Given the description of an element on the screen output the (x, y) to click on. 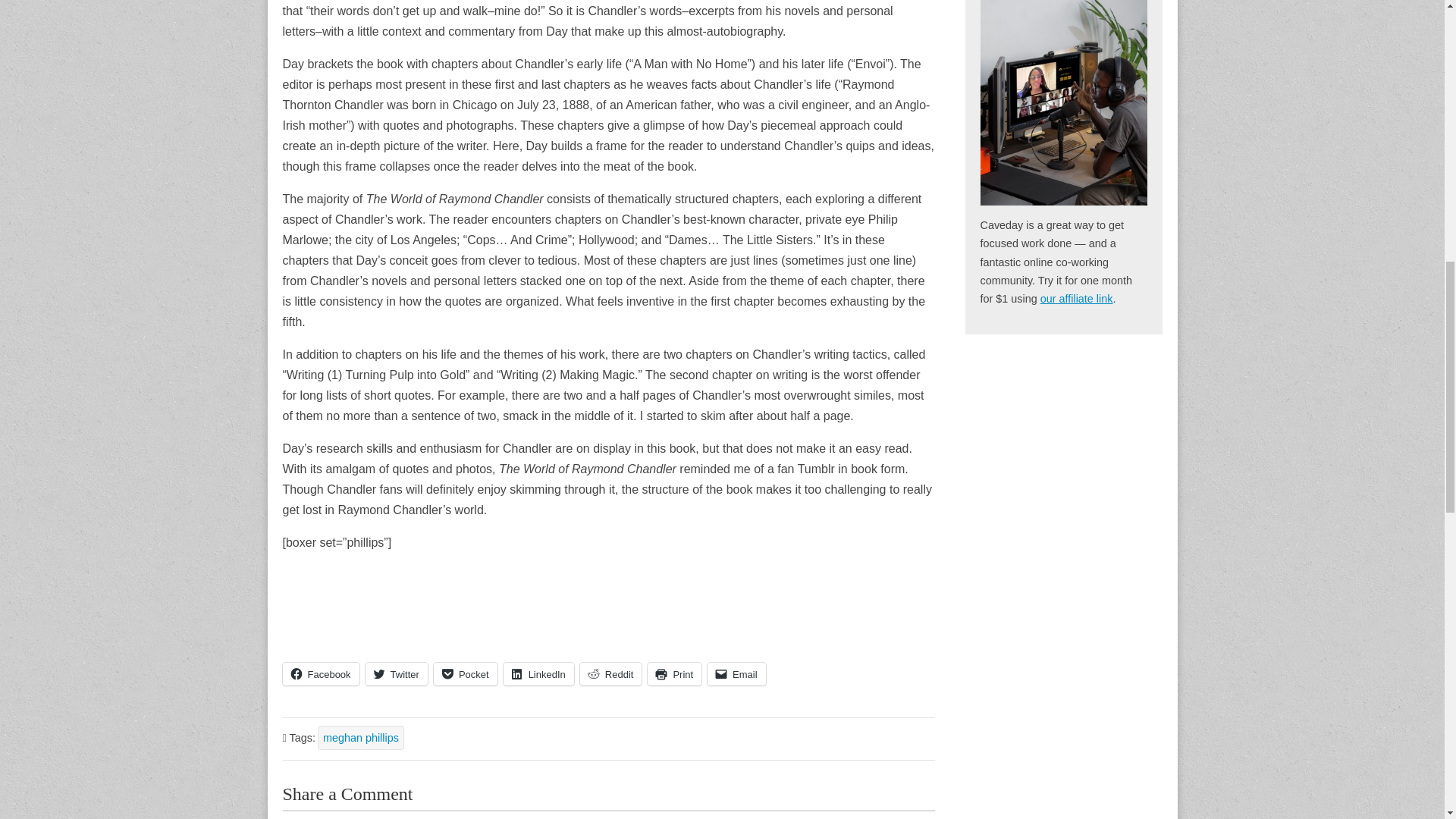
Comment Form (608, 814)
Click to share on Twitter (396, 673)
Click to share on Pocket (465, 673)
Click to email a link to a friend (736, 673)
Click to print (674, 673)
Click to share on LinkedIn (538, 673)
Click to share on Facebook (320, 673)
Click to share on Reddit (610, 673)
